Given the description of an element on the screen output the (x, y) to click on. 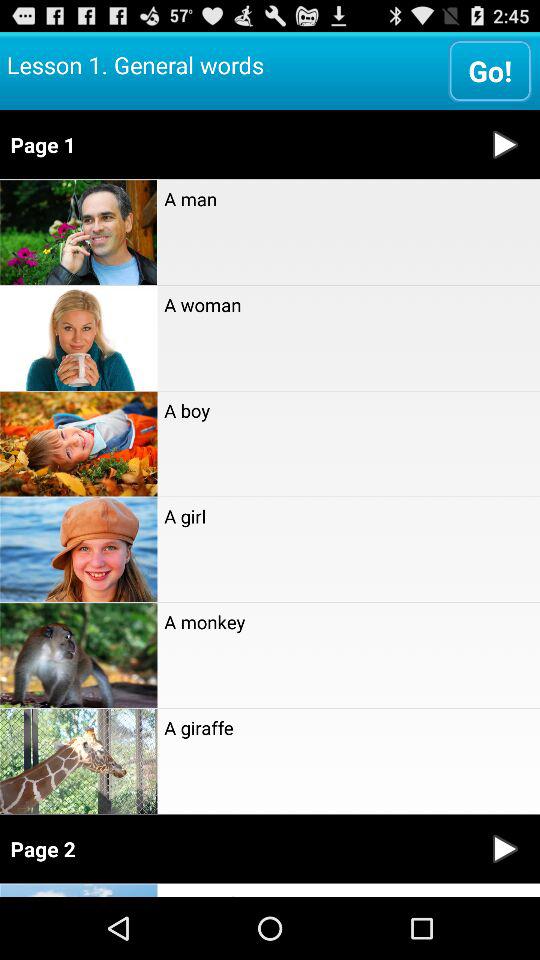
tap the page 2 item (235, 848)
